Given the description of an element on the screen output the (x, y) to click on. 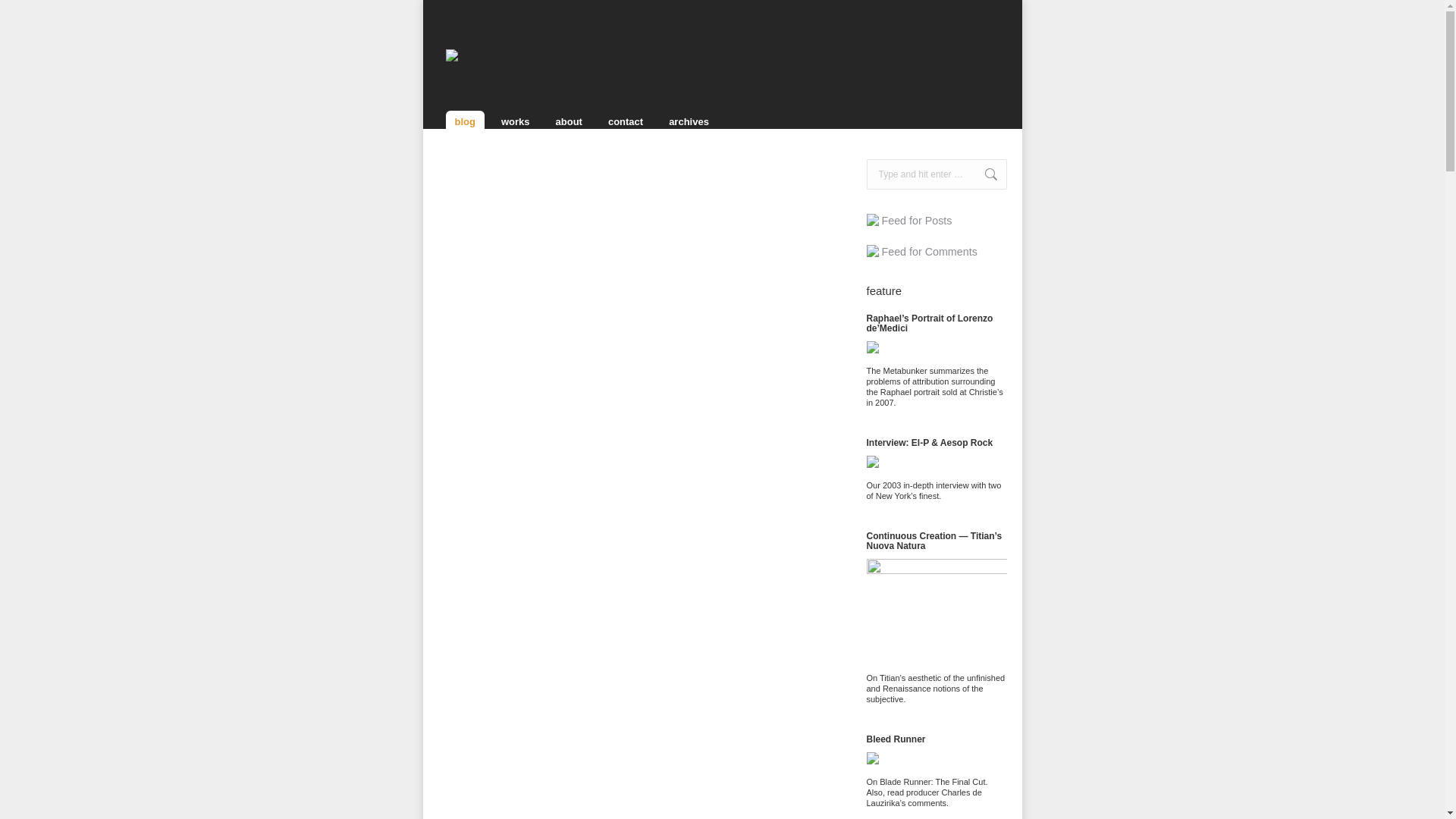
blog (464, 121)
archives (688, 121)
about (569, 121)
works (515, 121)
Go! (982, 173)
Go! (982, 173)
contact (625, 121)
